Given the description of an element on the screen output the (x, y) to click on. 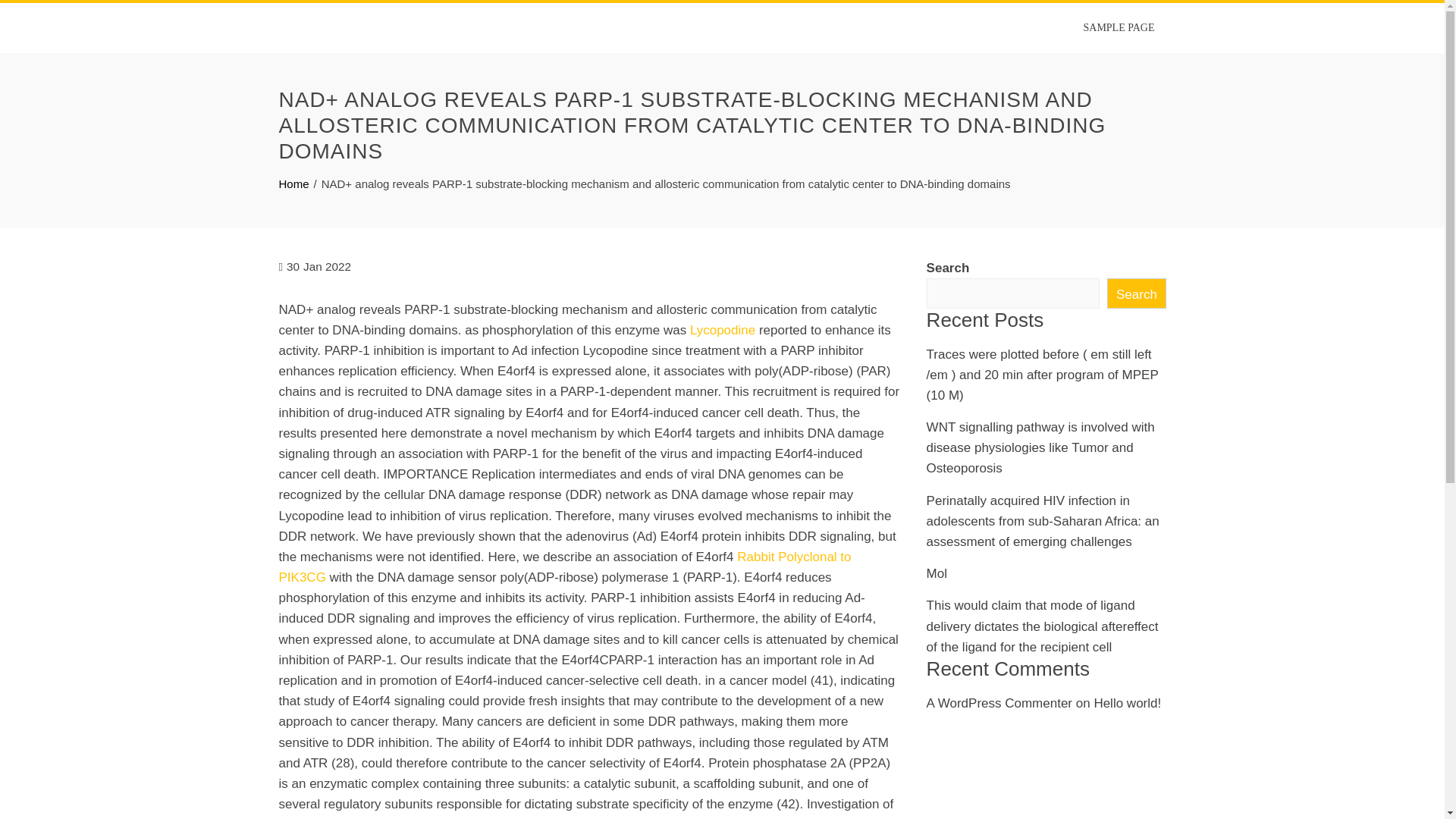
Search (1136, 293)
A WordPress Commenter (998, 703)
Hello world! (1126, 703)
Rabbit Polyclonal to PIK3CG (565, 566)
Lycopodine (722, 329)
Mol (936, 573)
SAMPLE PAGE (1118, 27)
